Given the description of an element on the screen output the (x, y) to click on. 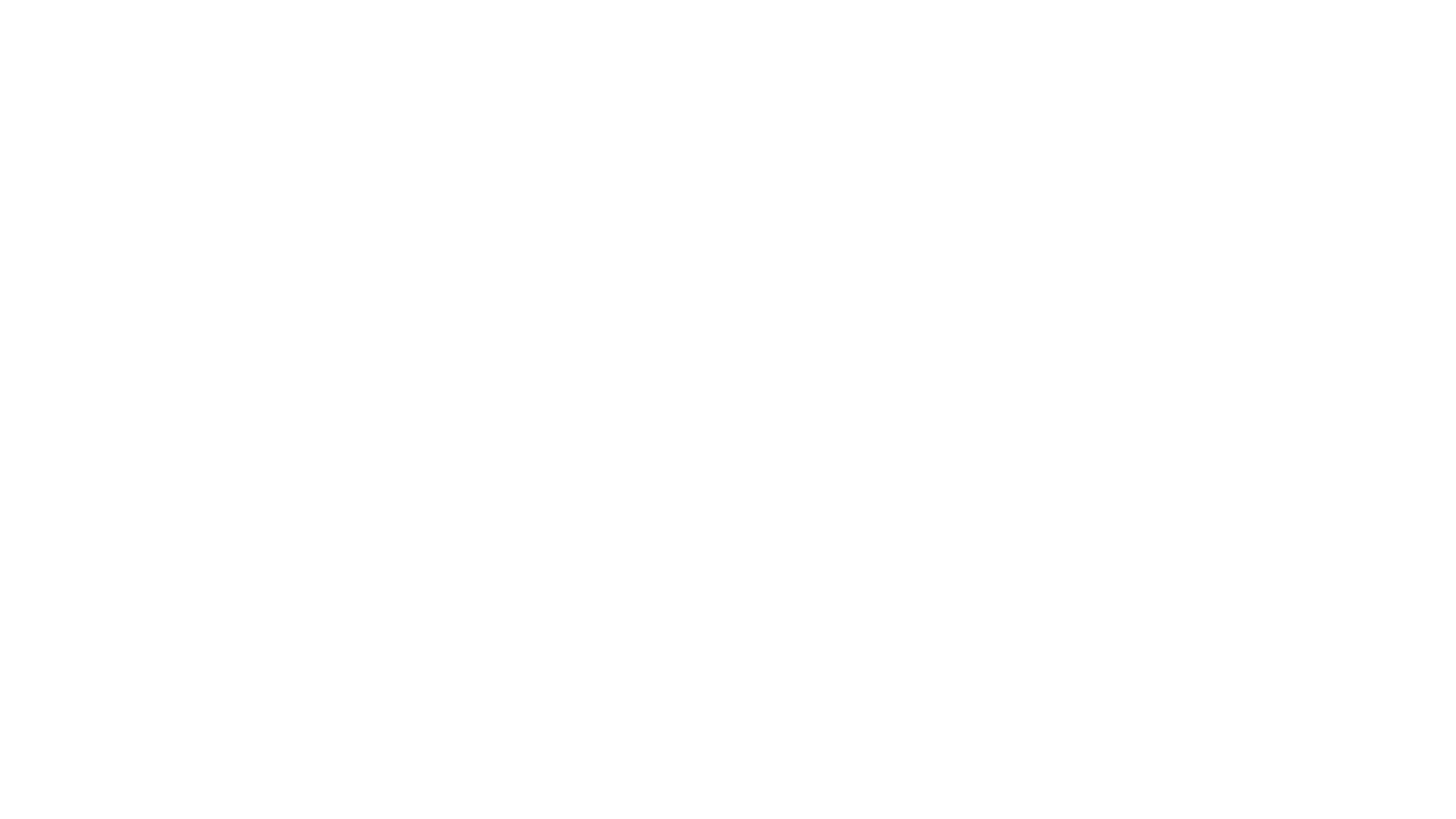
TOPS Element type: text (665, 49)
GIFT CARDS Element type: text (1067, 49)
SHIPPING & RETURNS Element type: text (103, 426)
JACKETS & COATS Element type: text (850, 49)
Powered by Shopify Element type: text (758, 613)
FREE SHIPPING OVER $150 | AFTERPAY AVAILABLE Element type: text (727, 11)
SKIRTS Element type: text (737, 49)
REFUND POLICY Element type: text (85, 498)
PANTS Element type: text (594, 49)
JUMPSUITS Element type: text (506, 49)
0 Element type: text (1409, 48)
CONTACT Element type: text (66, 451)
ALL ITEMS Element type: text (317, 49)
SALE Element type: text (1152, 49)
TERMS OF SERVICE Element type: text (95, 474)
Kumo Element type: text (700, 613)
ABOUT Element type: text (58, 403)
DRESSES Element type: text (411, 49)
JUMPERS Element type: text (969, 49)
